Given the description of an element on the screen output the (x, y) to click on. 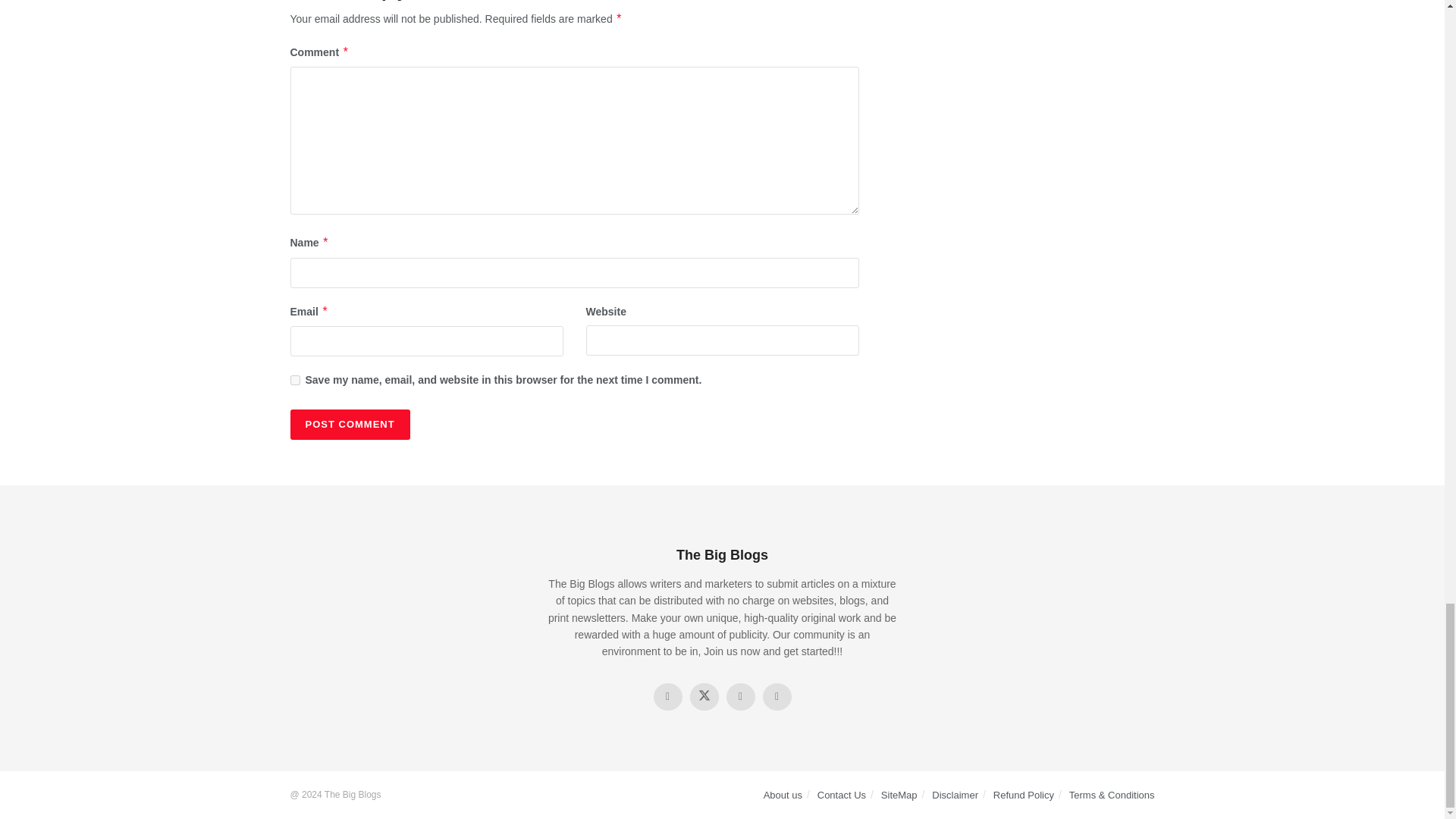
yes (294, 379)
Post Comment (349, 424)
